Given the description of an element on the screen output the (x, y) to click on. 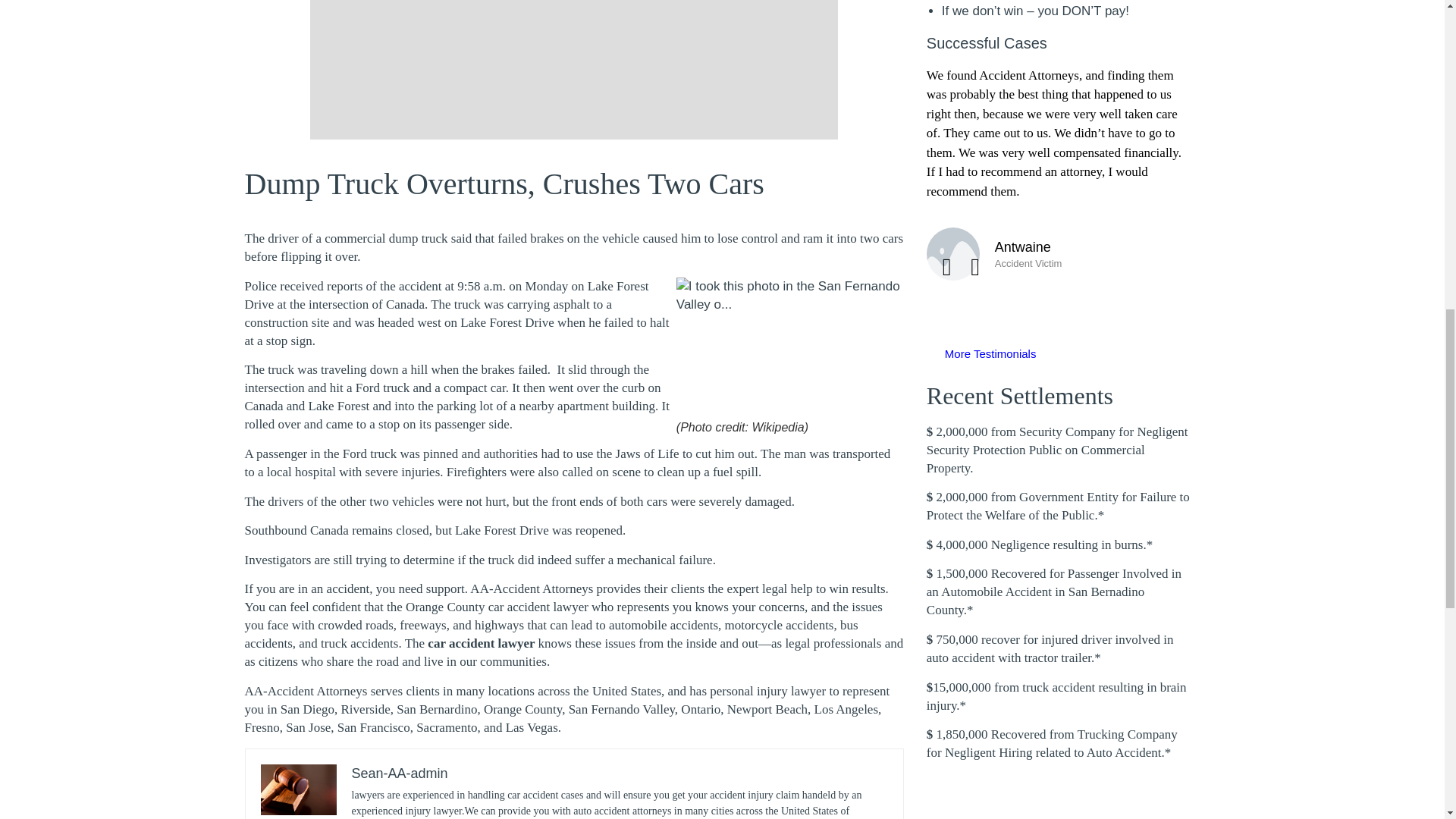
Dump Truck Overturns, Crushes Two Cars (503, 183)
More Testimonials (990, 353)
Los Angeles Car Accident Lawyer (497, 606)
Orange County car accident lawyer (497, 606)
I took this photo in the San Fernando Valley o... (790, 348)
Sean-AA-admin (400, 773)
personal injury lawyer  (769, 690)
